Given the description of an element on the screen output the (x, y) to click on. 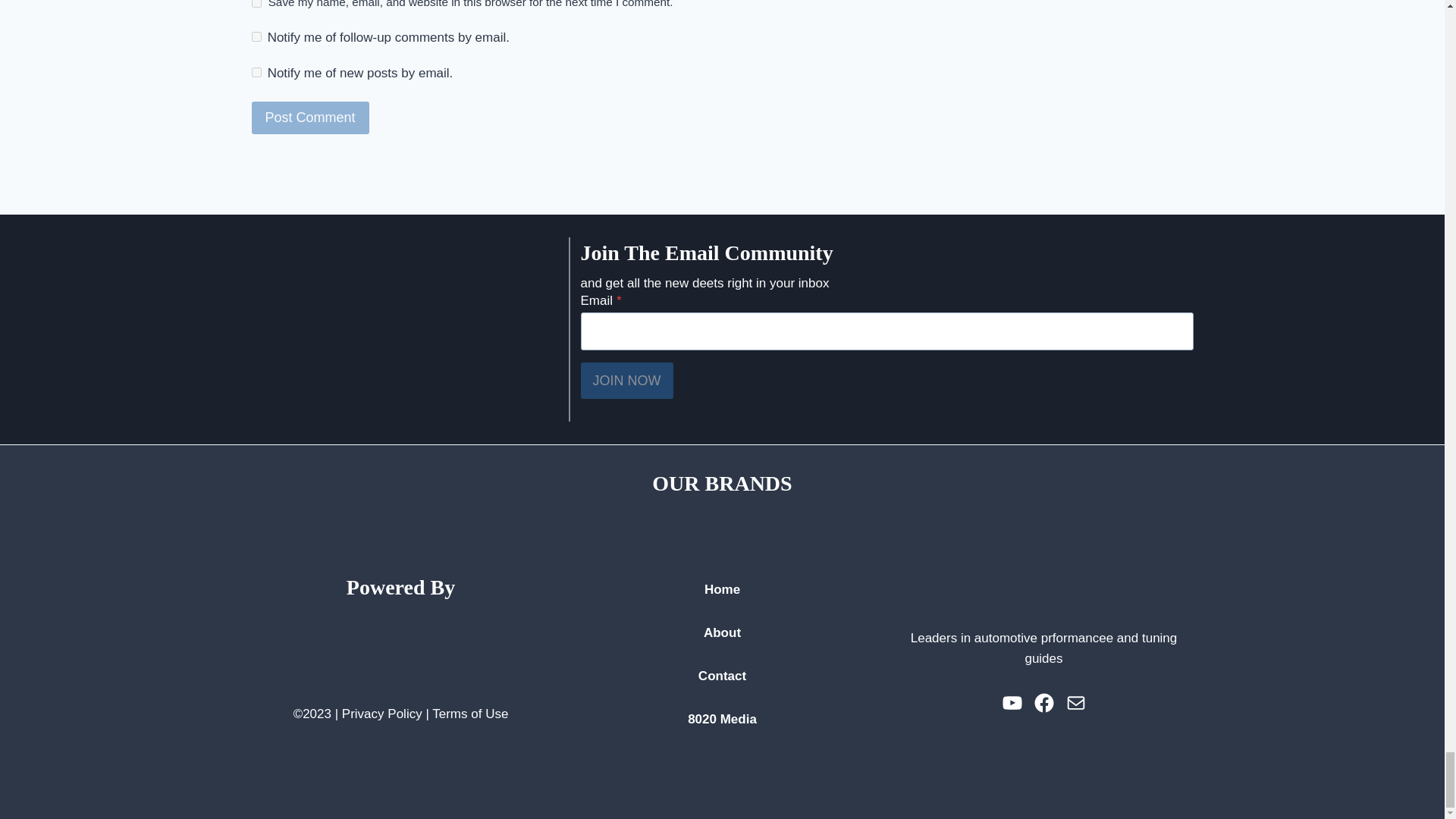
Post Comment (310, 117)
subscribe (256, 36)
subscribe (256, 71)
yes (256, 3)
